Given the description of an element on the screen output the (x, y) to click on. 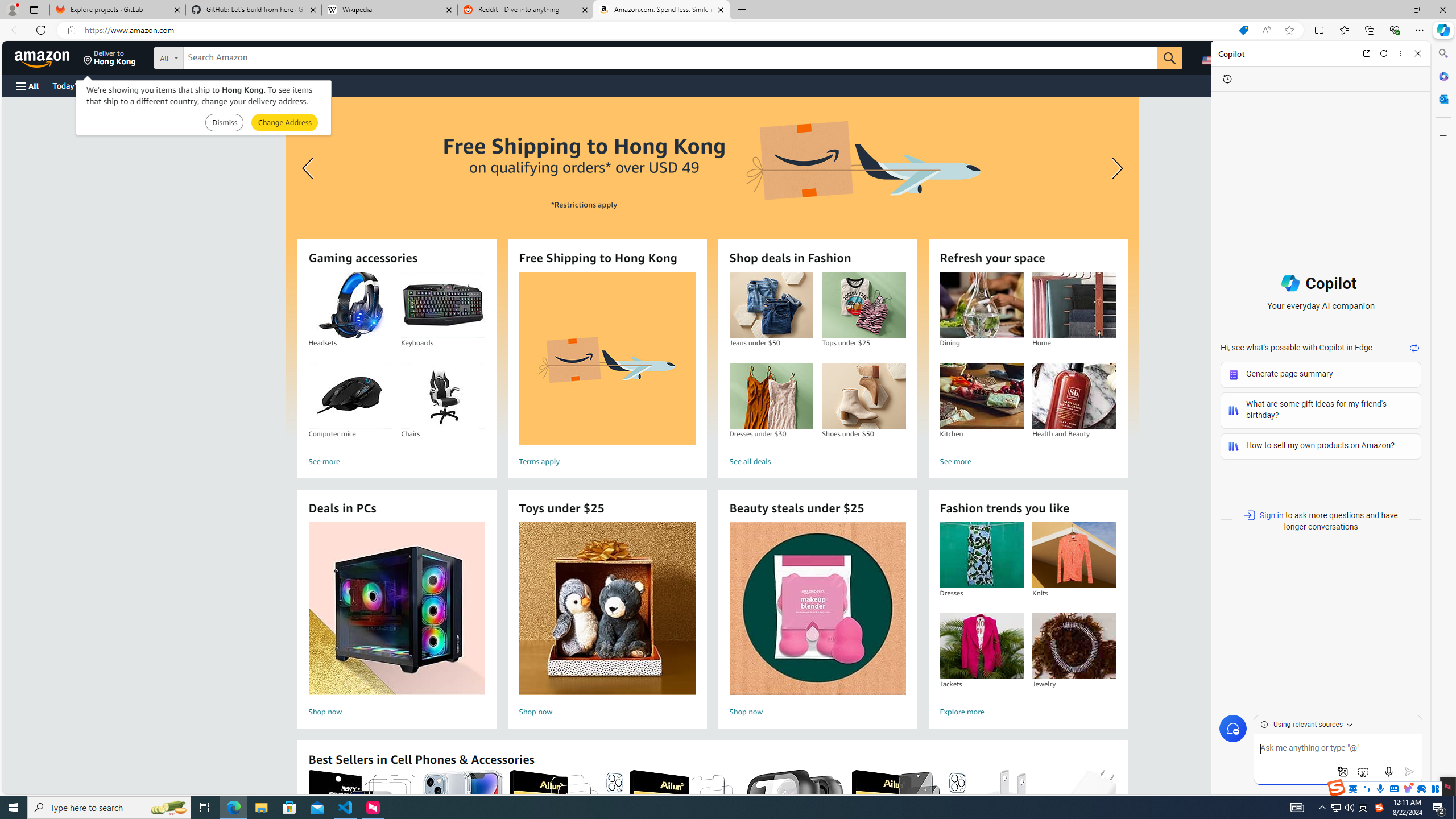
Tops under $25 (863, 304)
Keyboards (443, 304)
Toys under $25 (606, 608)
Kitchen (981, 395)
See all deals (817, 461)
Dining (981, 304)
Skip to main content (48, 56)
Free Shipping to Hong Kong Learn more (711, 267)
Free Shipping to Hong Kong Terms apply (606, 370)
Computer mice (350, 395)
Jewelry (1074, 645)
